Given the description of an element on the screen output the (x, y) to click on. 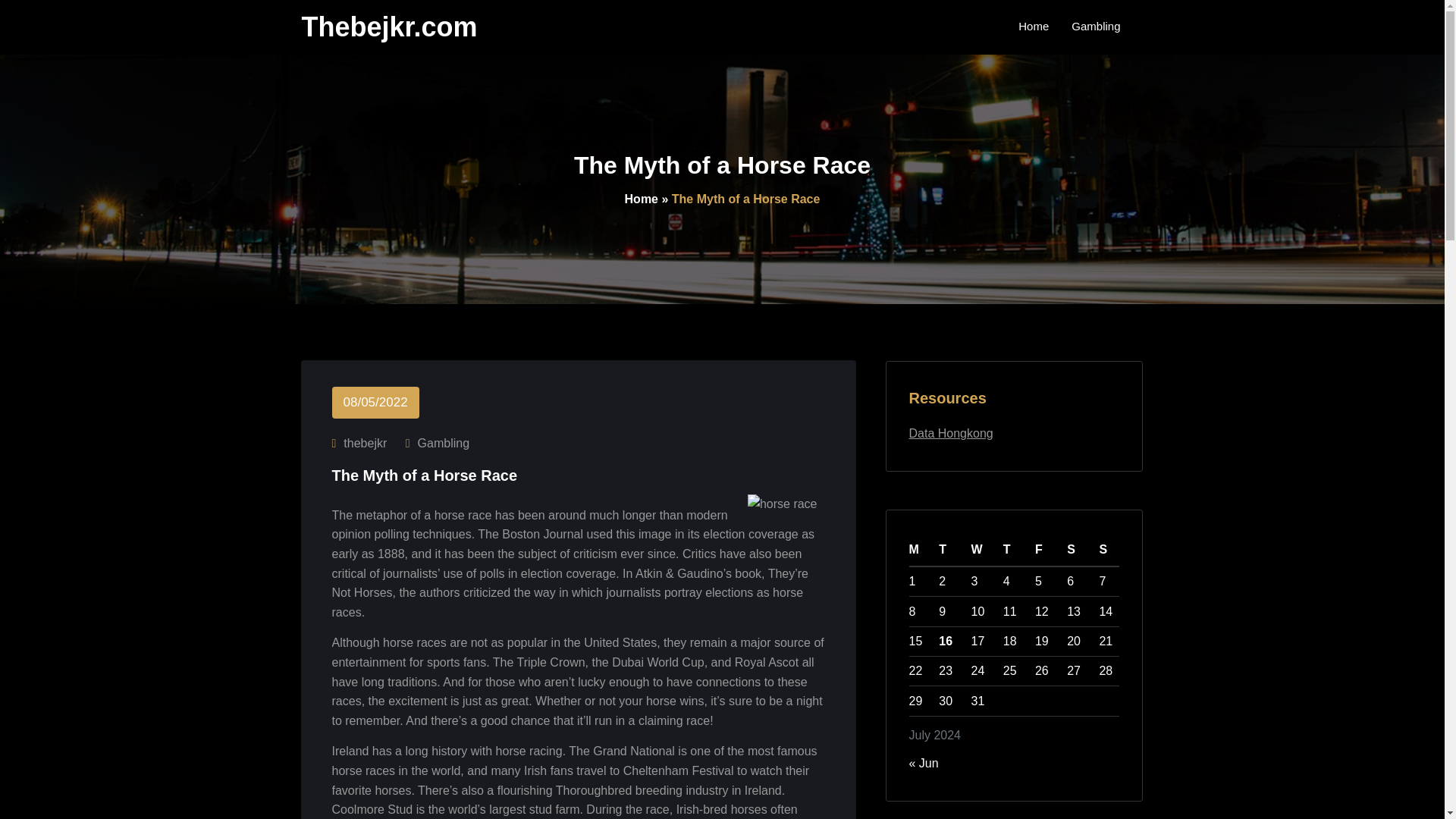
Gambling (442, 443)
Data Hongkong (950, 432)
13 (1073, 611)
Wednesday (981, 550)
Home (641, 198)
10 (978, 611)
14 (1105, 611)
Tuesday (950, 550)
15 (914, 640)
Thursday (1013, 550)
11 (1009, 611)
12 (1041, 611)
Thebejkr.com (389, 26)
Friday (1046, 550)
Saturday (1078, 550)
